Given the description of an element on the screen output the (x, y) to click on. 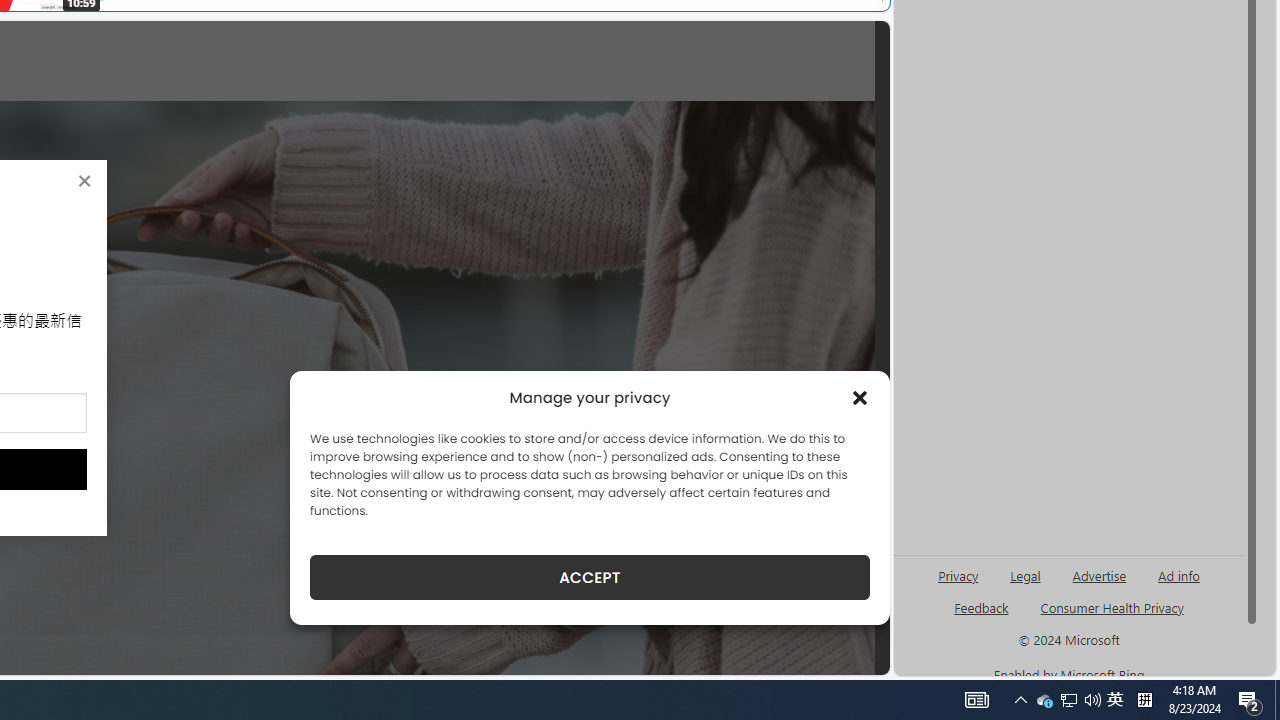
ACCEPT (589, 577)
Class: cmplz-close (859, 398)
AutomationID: genId96 (981, 615)
AutomationID: sb_feedback (980, 607)
